Given the description of an element on the screen output the (x, y) to click on. 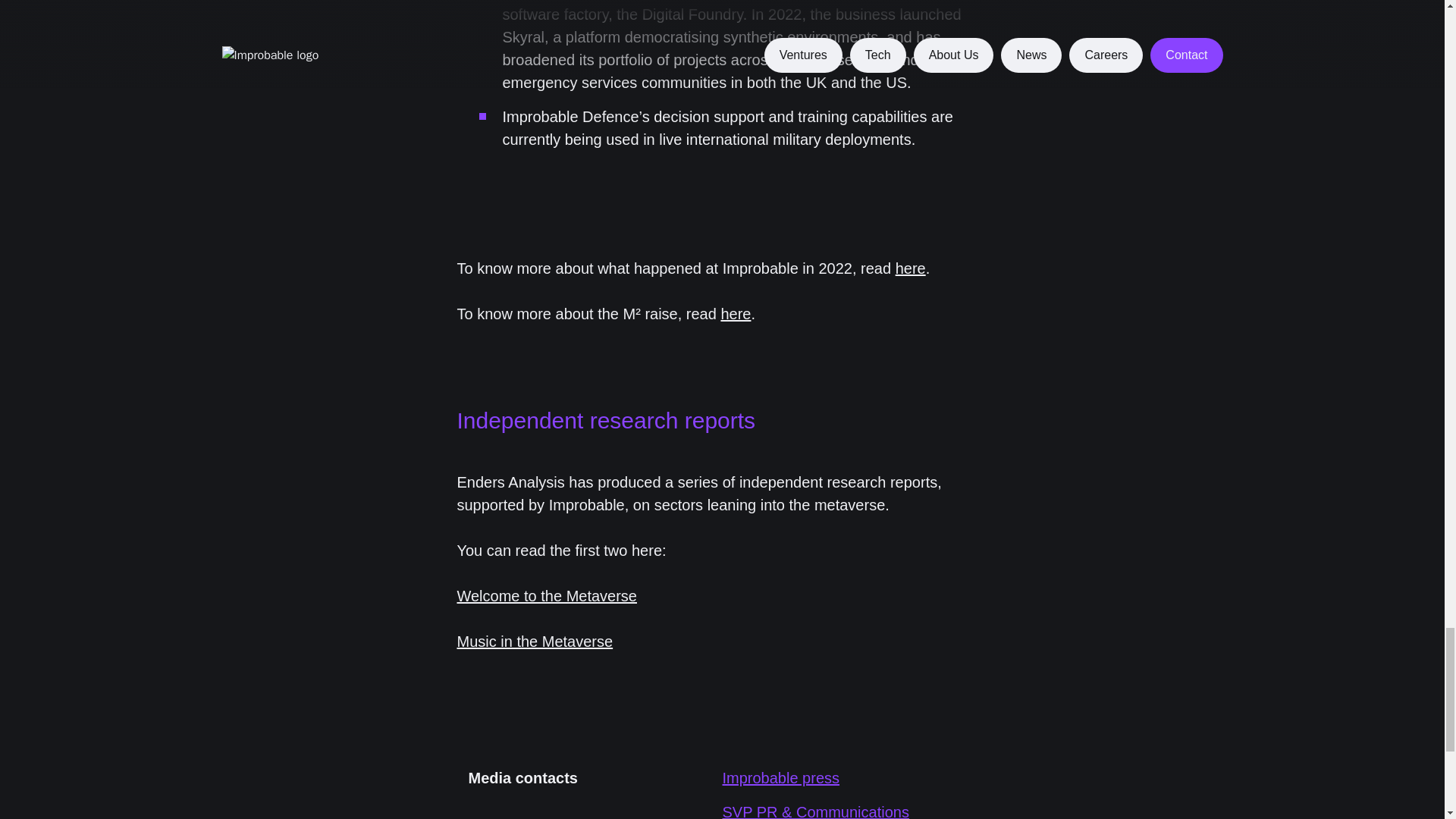
Music in the Metaverse (534, 641)
Improbable press (781, 777)
Welcome to the Metaverse (547, 596)
here (910, 267)
here (735, 312)
